Given the description of an element on the screen output the (x, y) to click on. 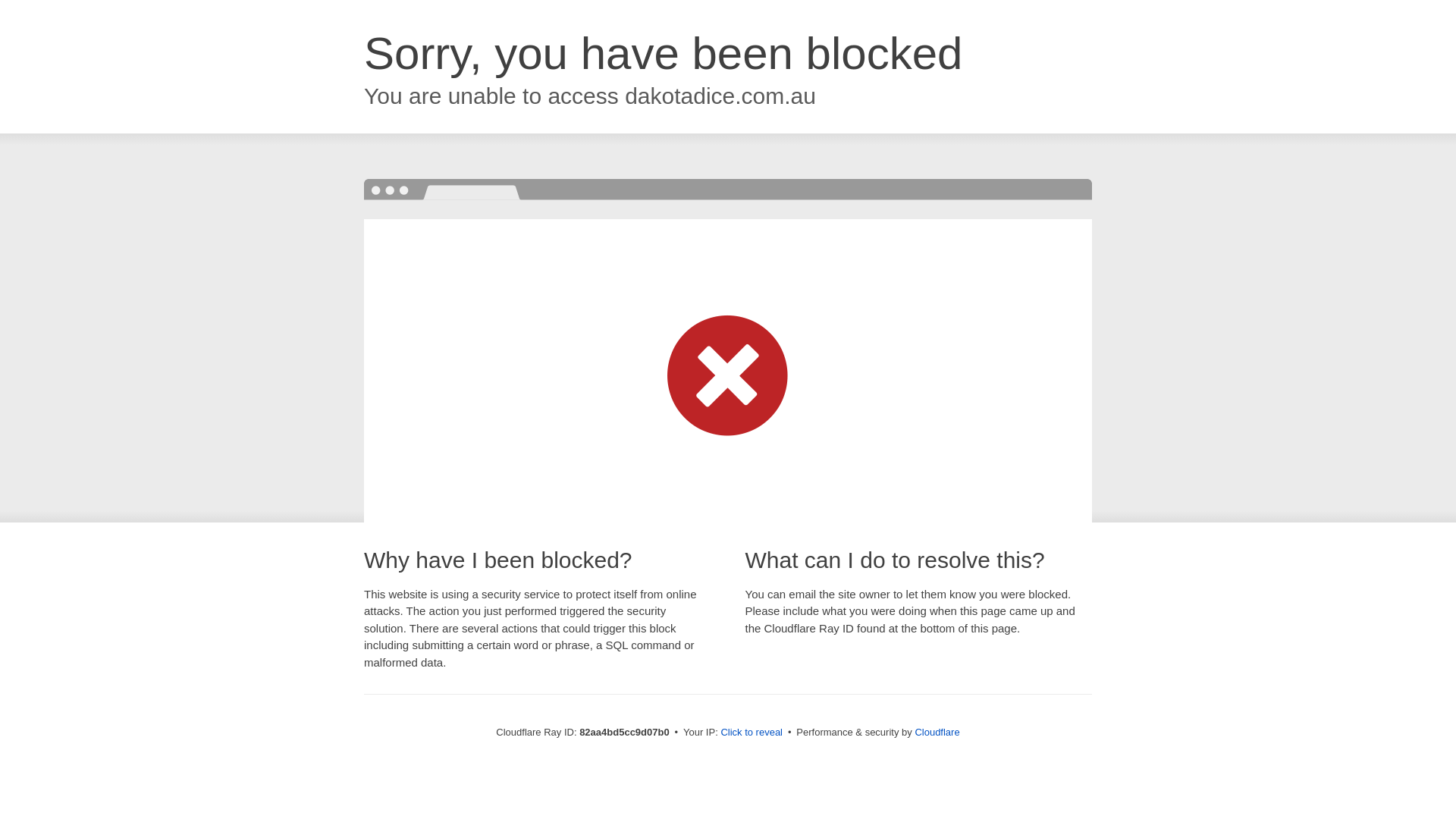
Click to reveal Element type: text (751, 732)
Cloudflare Element type: text (936, 731)
